Given the description of an element on the screen output the (x, y) to click on. 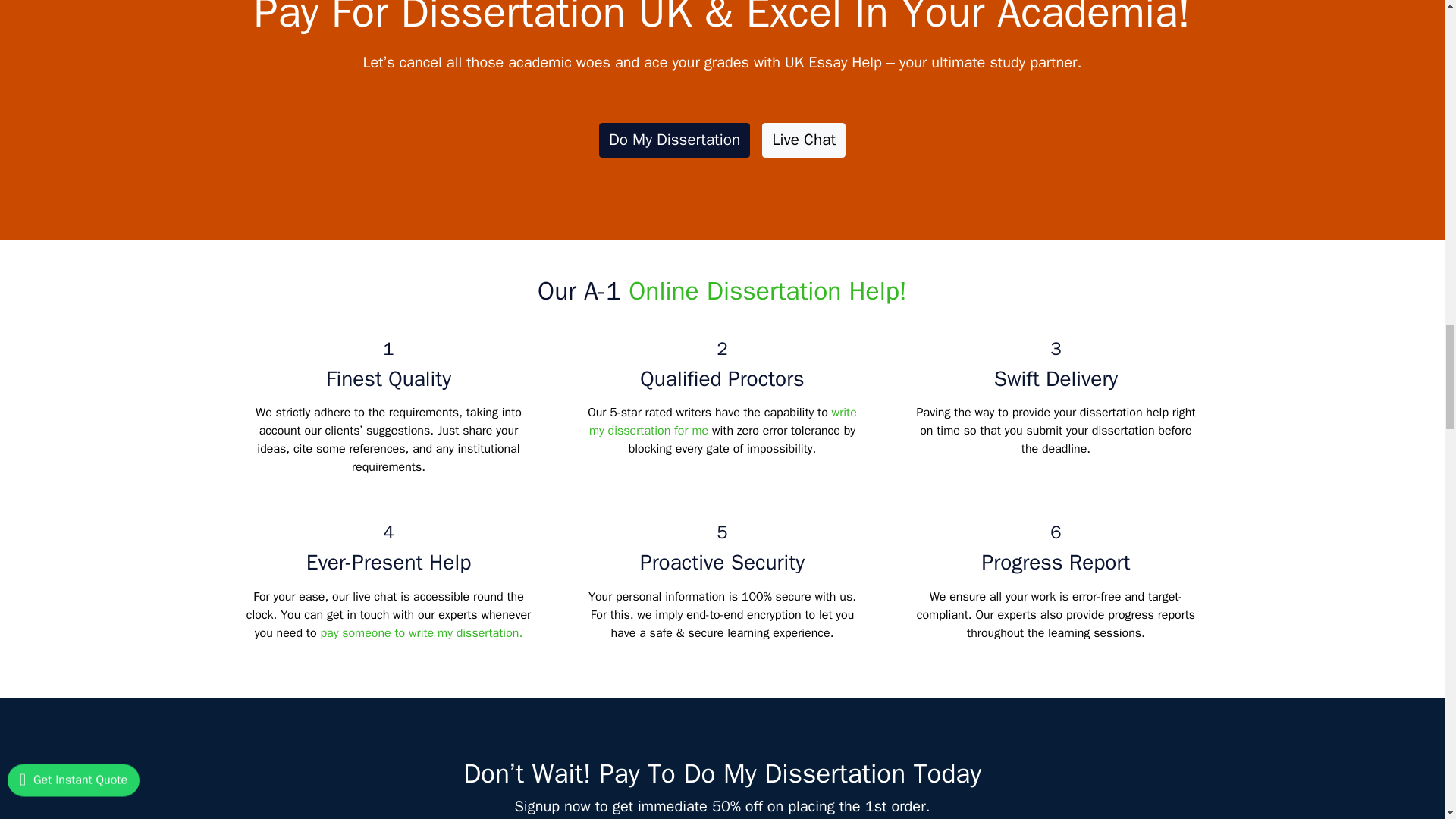
Live Chat (803, 139)
pay someone to write my dissertation. (421, 632)
Do My Dissertation (673, 139)
Online Dissertation Help! (767, 291)
write my dissertation for me (723, 421)
